Given the description of an element on the screen output the (x, y) to click on. 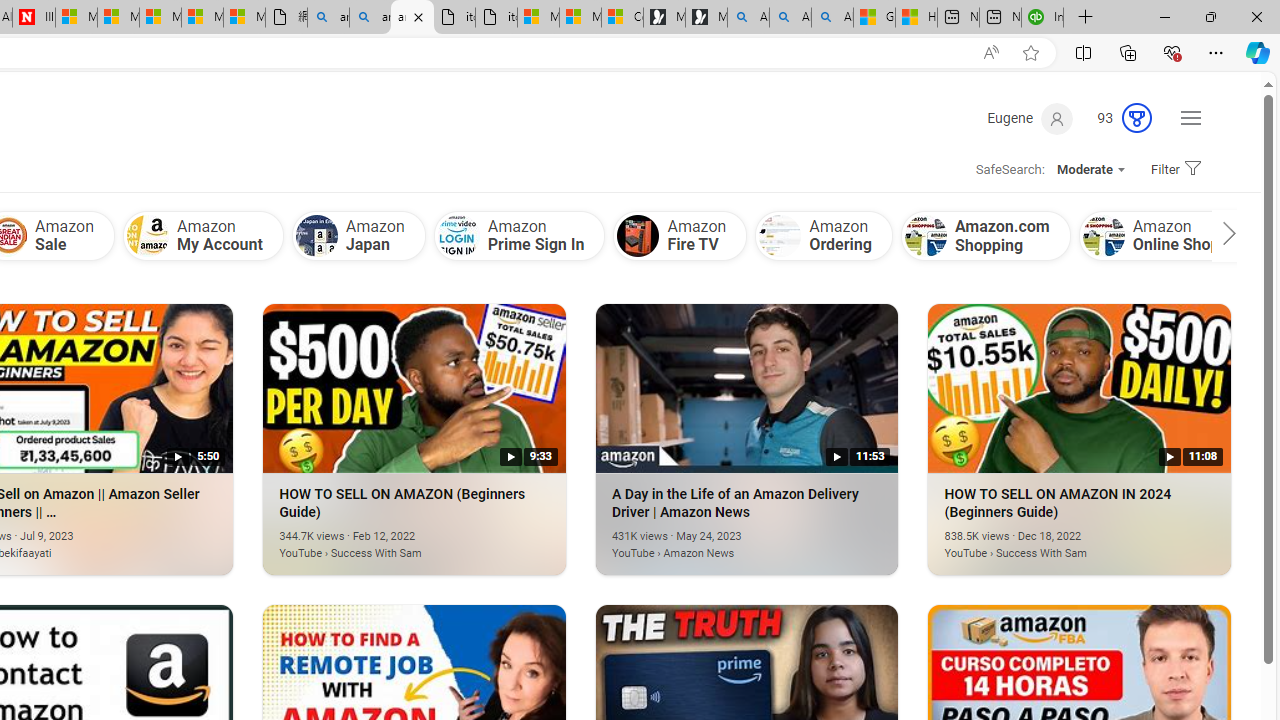
A Day in the Life of an Amazon Delivery Driver | Amazon News (717, 542)
Amazon Online Shopping (1175, 235)
Illness news & latest pictures from Newsweek.com (33, 17)
HOW TO SELL ON AMAZON IN 2024 (Beginners Guide) (1079, 388)
Amazon Ordering (780, 236)
itconcepthk.com/projector_solutions.mp4 (496, 17)
Amazon Fire TV (680, 235)
Alabama high school quarterback dies - Search Videos (831, 17)
